Given the description of an element on the screen output the (x, y) to click on. 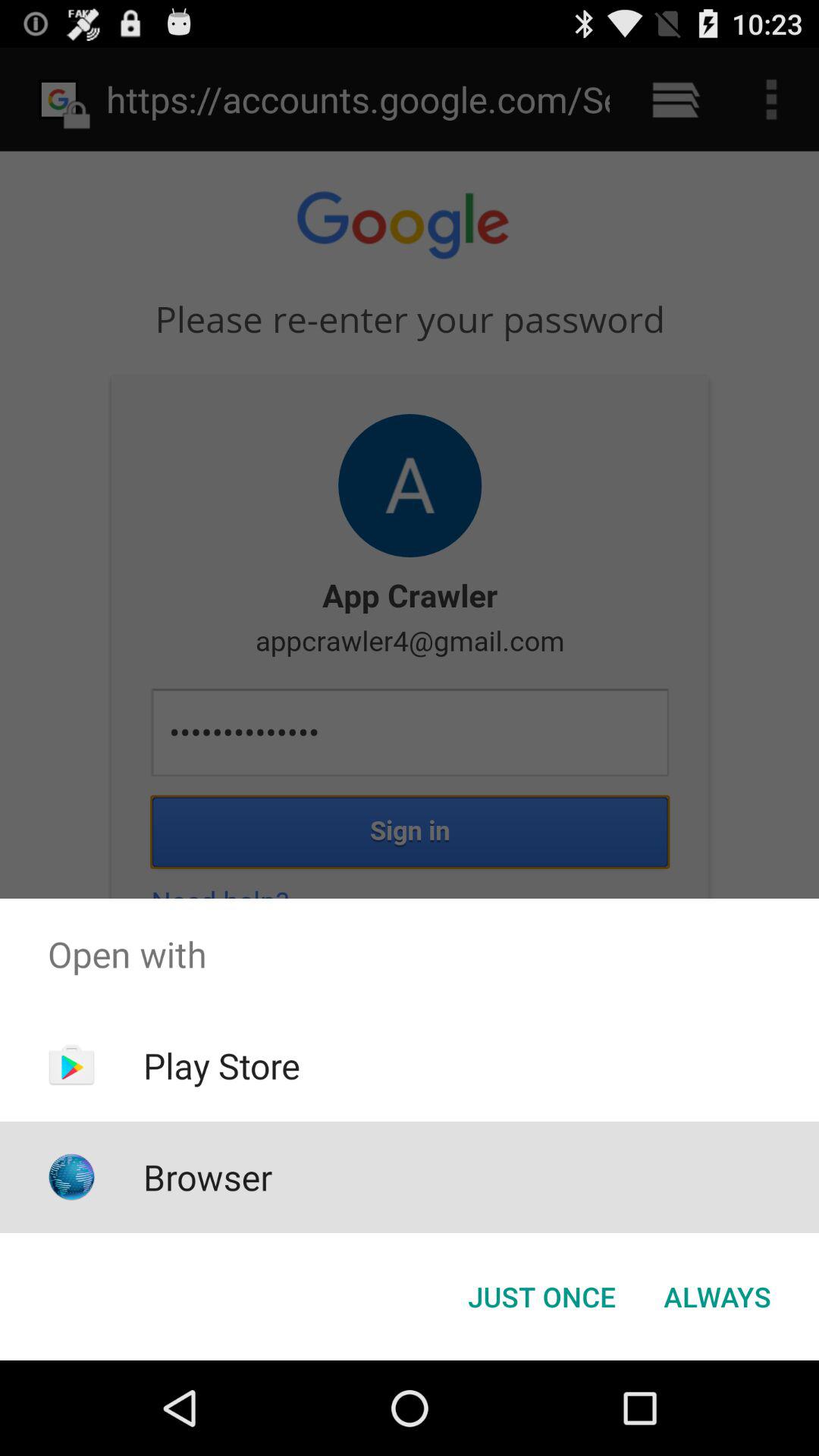
click icon next to the just once icon (717, 1296)
